Given the description of an element on the screen output the (x, y) to click on. 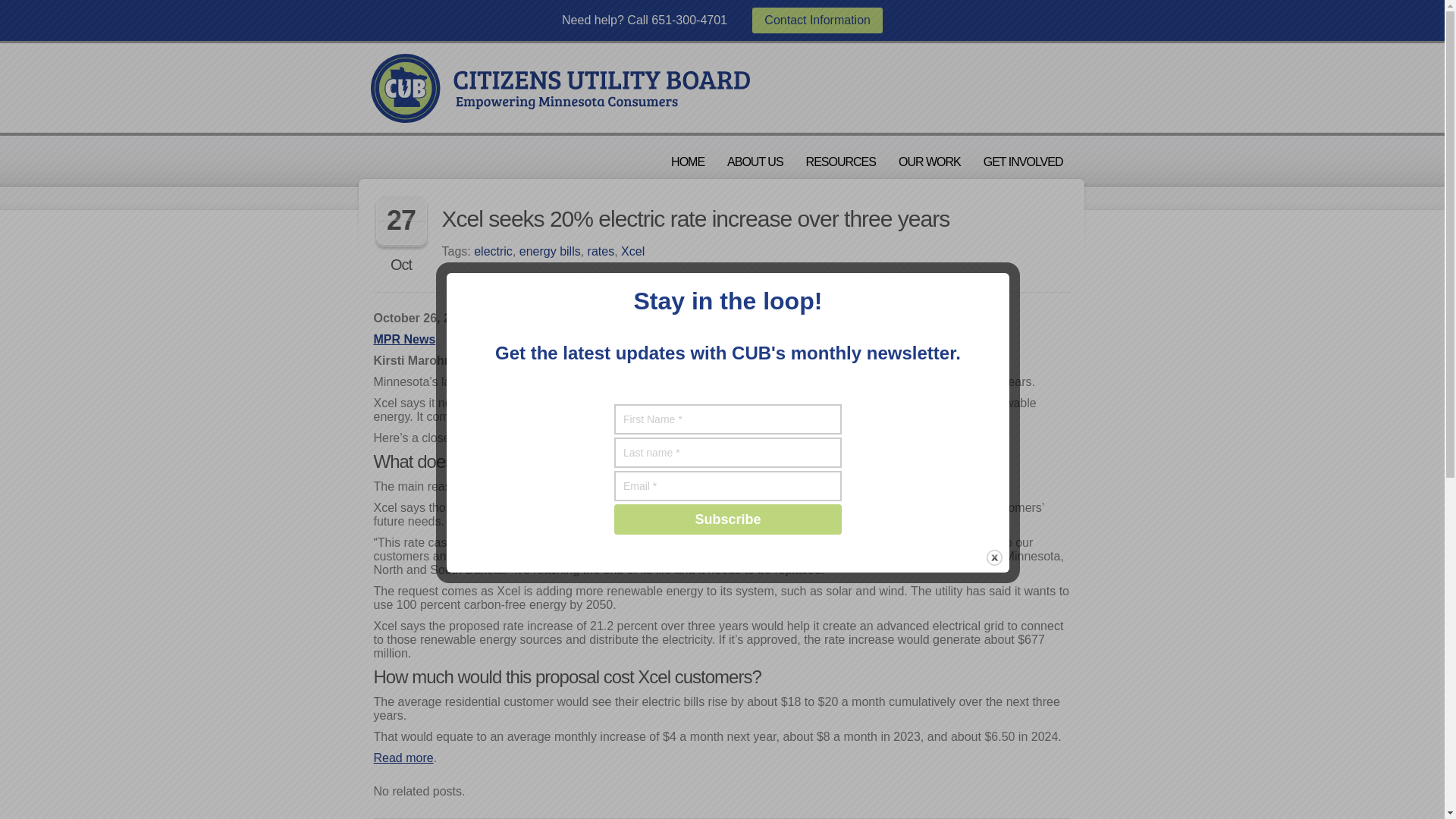
OUR WORK (929, 161)
Subscribe (727, 519)
Contact Information (817, 20)
Xcel (633, 250)
rates (601, 250)
Read more (402, 757)
GET INVOLVED (1023, 161)
RESOURCES (840, 161)
ABOUT US (755, 161)
651-300-4701 (688, 19)
HOME (687, 161)
energy bills (549, 250)
Close (995, 557)
electric (493, 250)
MPR News (403, 338)
